Given the description of an element on the screen output the (x, y) to click on. 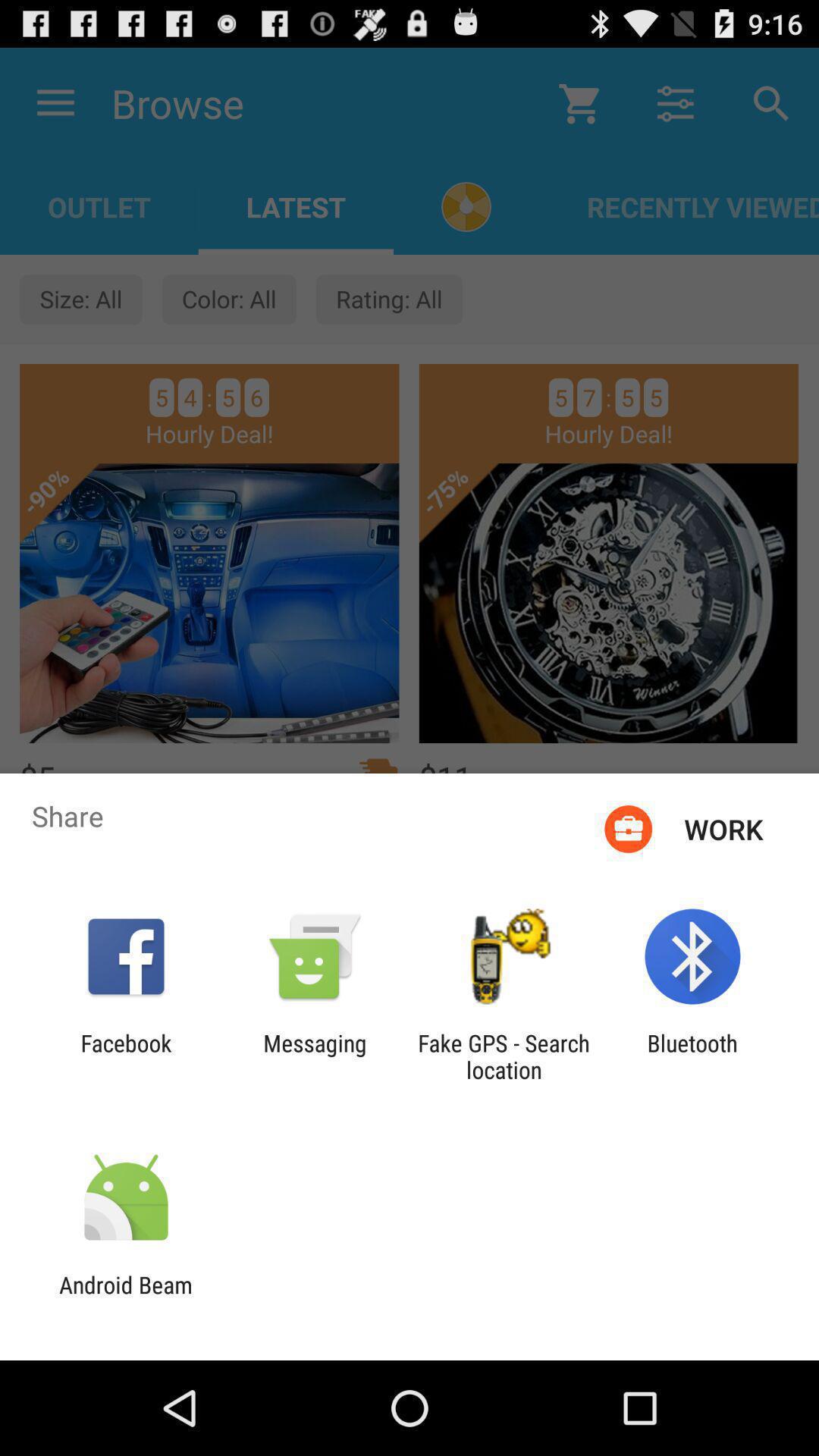
tap the item to the right of facebook item (314, 1056)
